Given the description of an element on the screen output the (x, y) to click on. 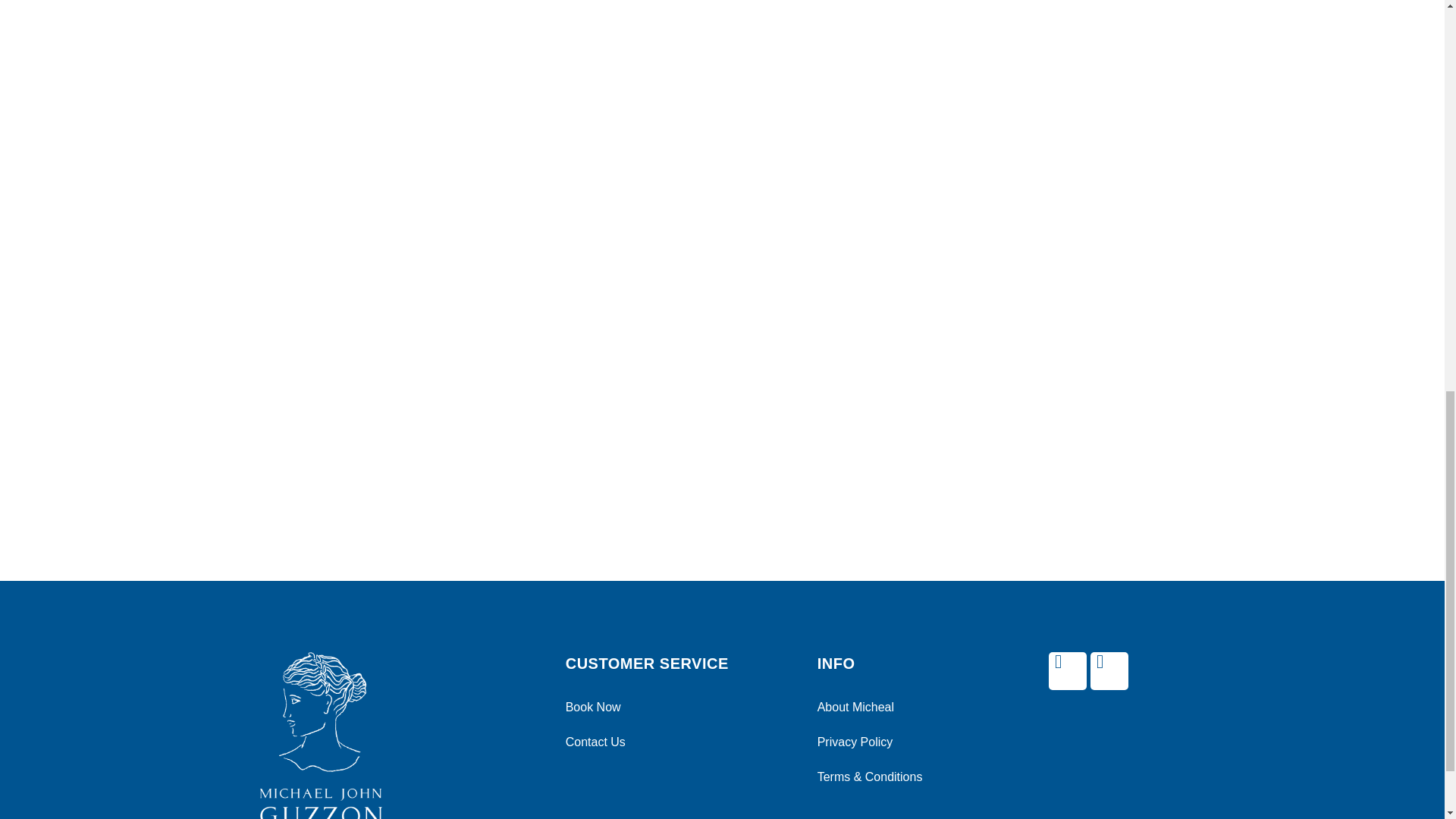
Book Now (676, 707)
Privacy Policy (897, 742)
About Micheal (897, 707)
Contact Us (676, 742)
